Given the description of an element on the screen output the (x, y) to click on. 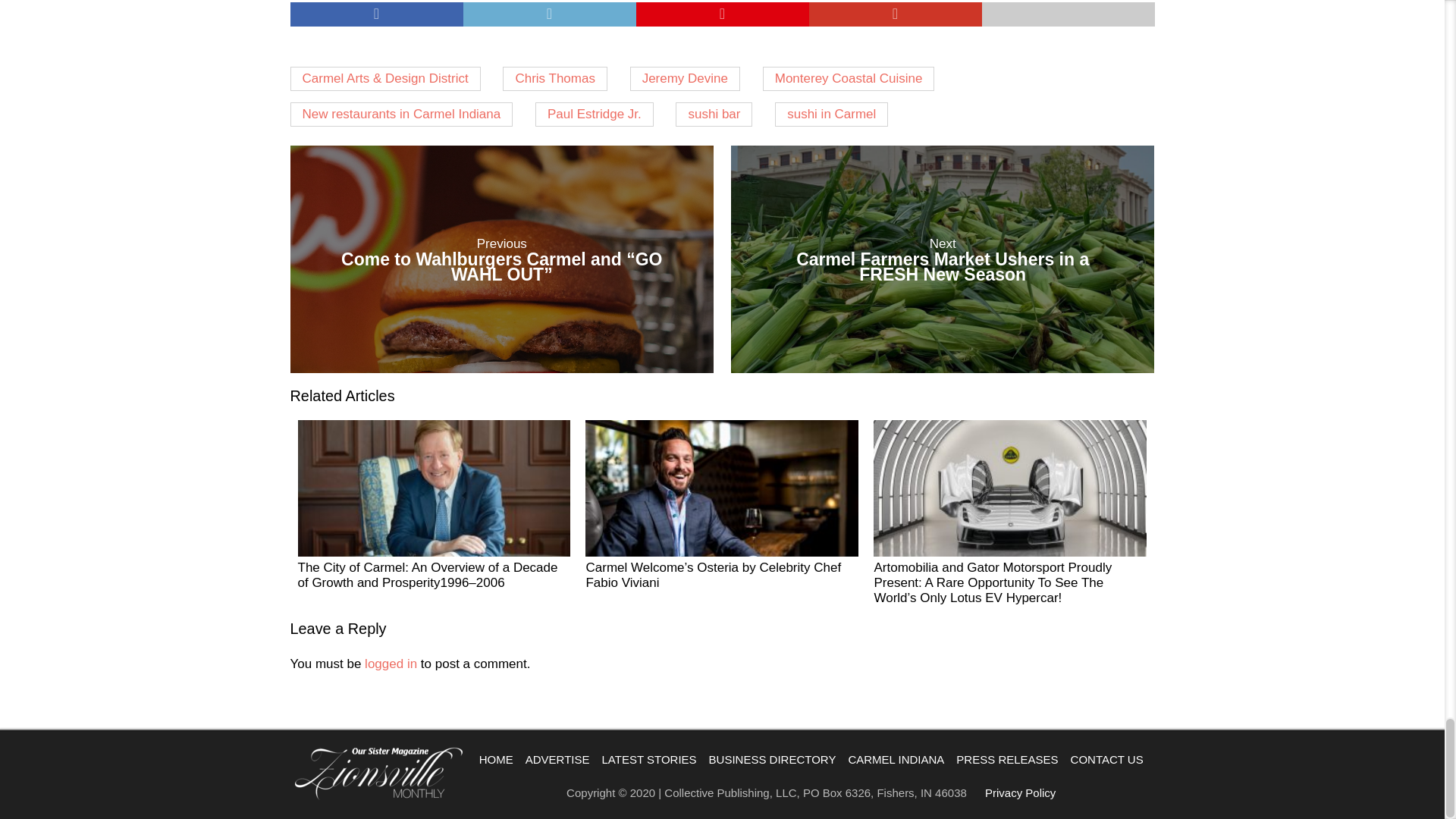
Paul Estridge Jr. (594, 114)
sushi bar (713, 114)
Send this article to a friend (1067, 14)
Chris Thomas (554, 78)
Monterey Coastal Cuisine (848, 78)
sushi in Carmel (831, 114)
Jeremy Devine (684, 78)
Tweet This Post (548, 14)
Pin This Post (942, 259)
